Given the description of an element on the screen output the (x, y) to click on. 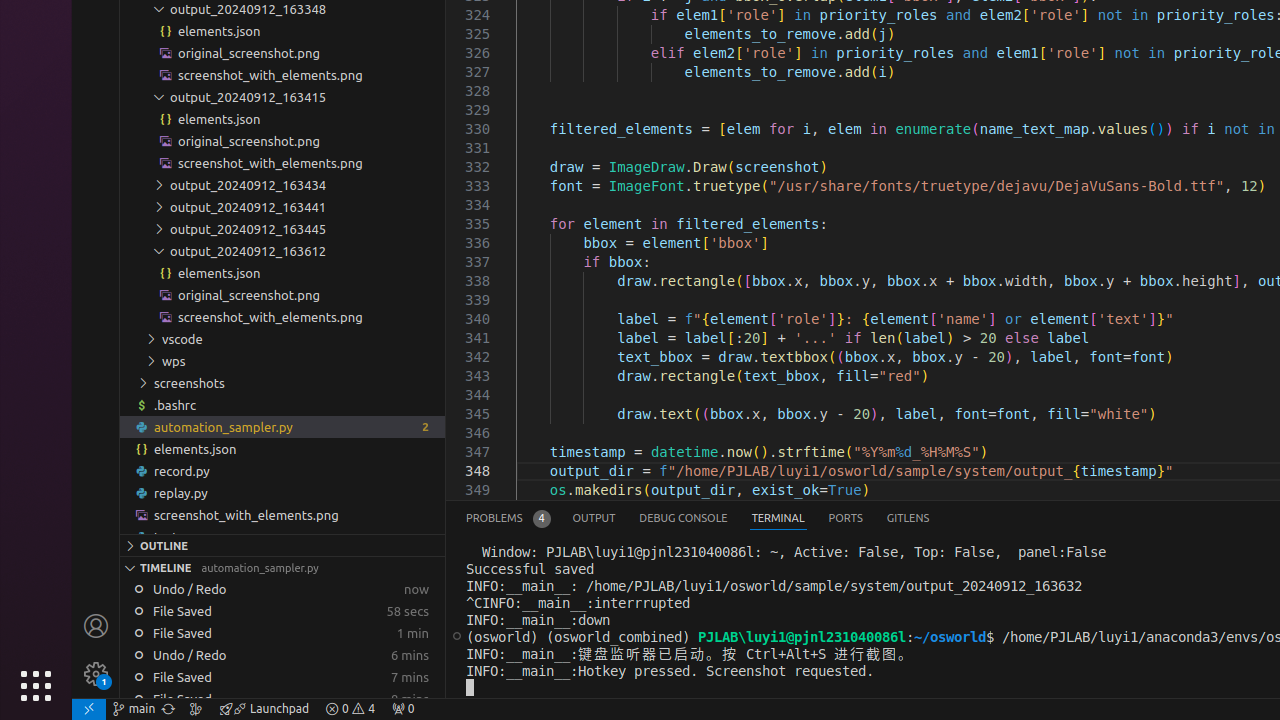
58 seconds: File Saved Element type: tree-item (282, 611)
screenshots Element type: tree-item (282, 383)
8 minutes: File Saved Element type: tree-item (282, 699)
Accounts Element type: push-button (96, 626)
